Given the description of an element on the screen output the (x, y) to click on. 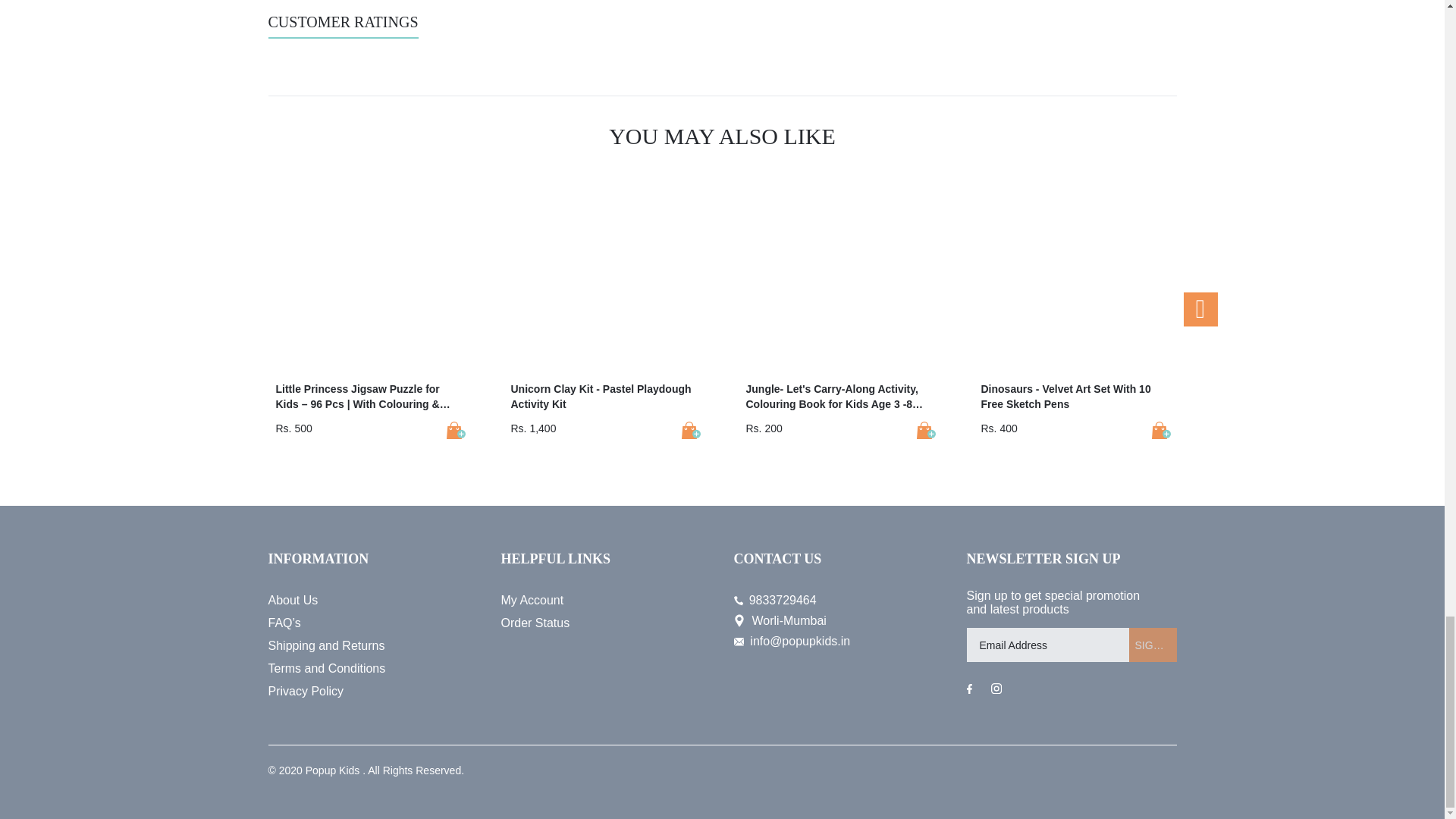
Dinosaurs - Velvet Art Set With 10 Free Sketch Pens (1160, 429)
Sign up (1152, 644)
Unicorn Clay Kit - Pastel Playdough Activity Kit (690, 429)
